Given the description of an element on the screen output the (x, y) to click on. 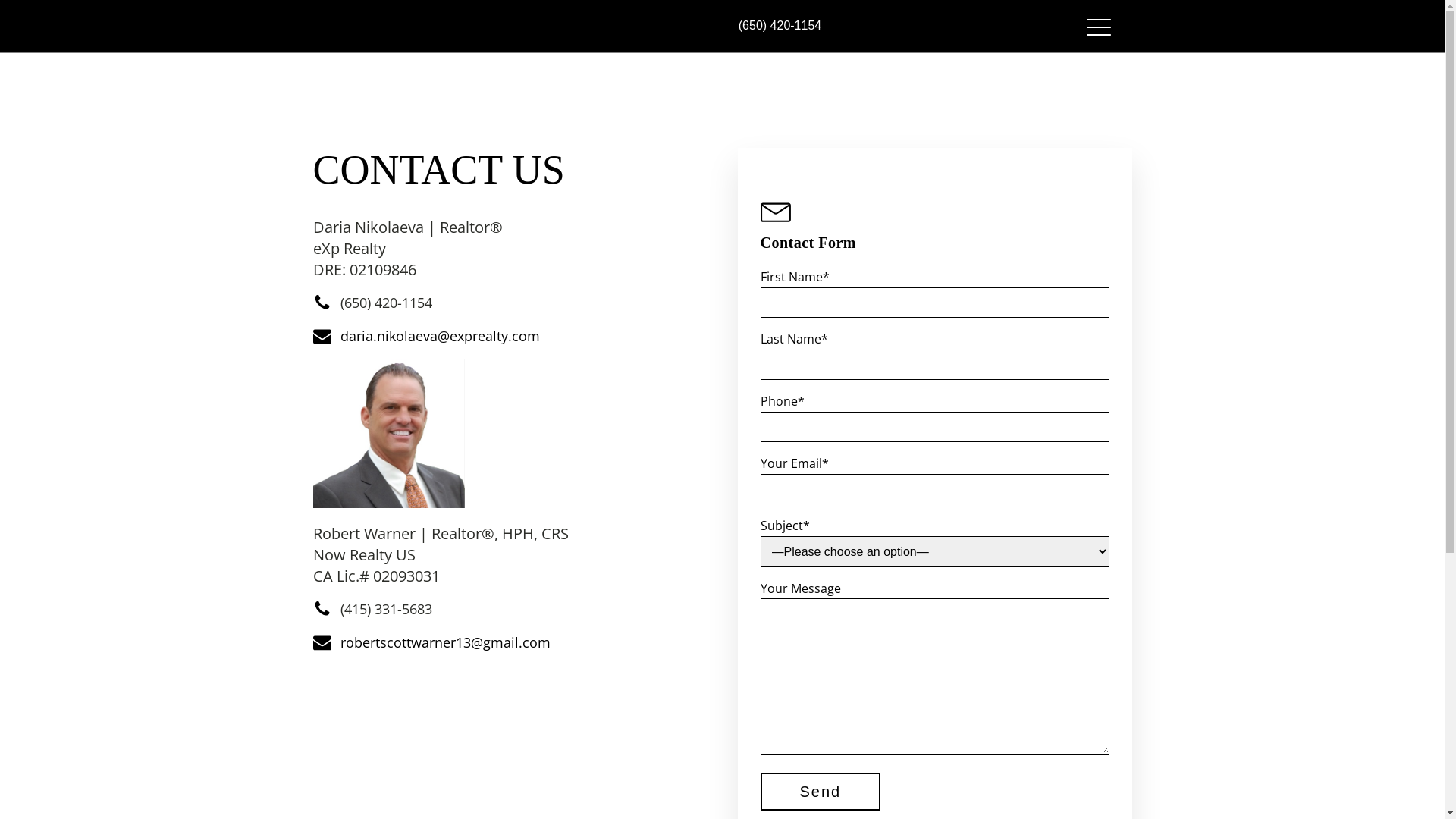
Send Element type: text (819, 791)
daria.nikolaeva@exprealty.com Element type: text (439, 335)
(650) 420-1154 Element type: text (385, 302)
(415) 331-5683 Element type: text (385, 608)
robertscottwarner13@gmail.com Element type: text (444, 642)
(650) 420-1154 Element type: text (779, 25)
